Given the description of an element on the screen output the (x, y) to click on. 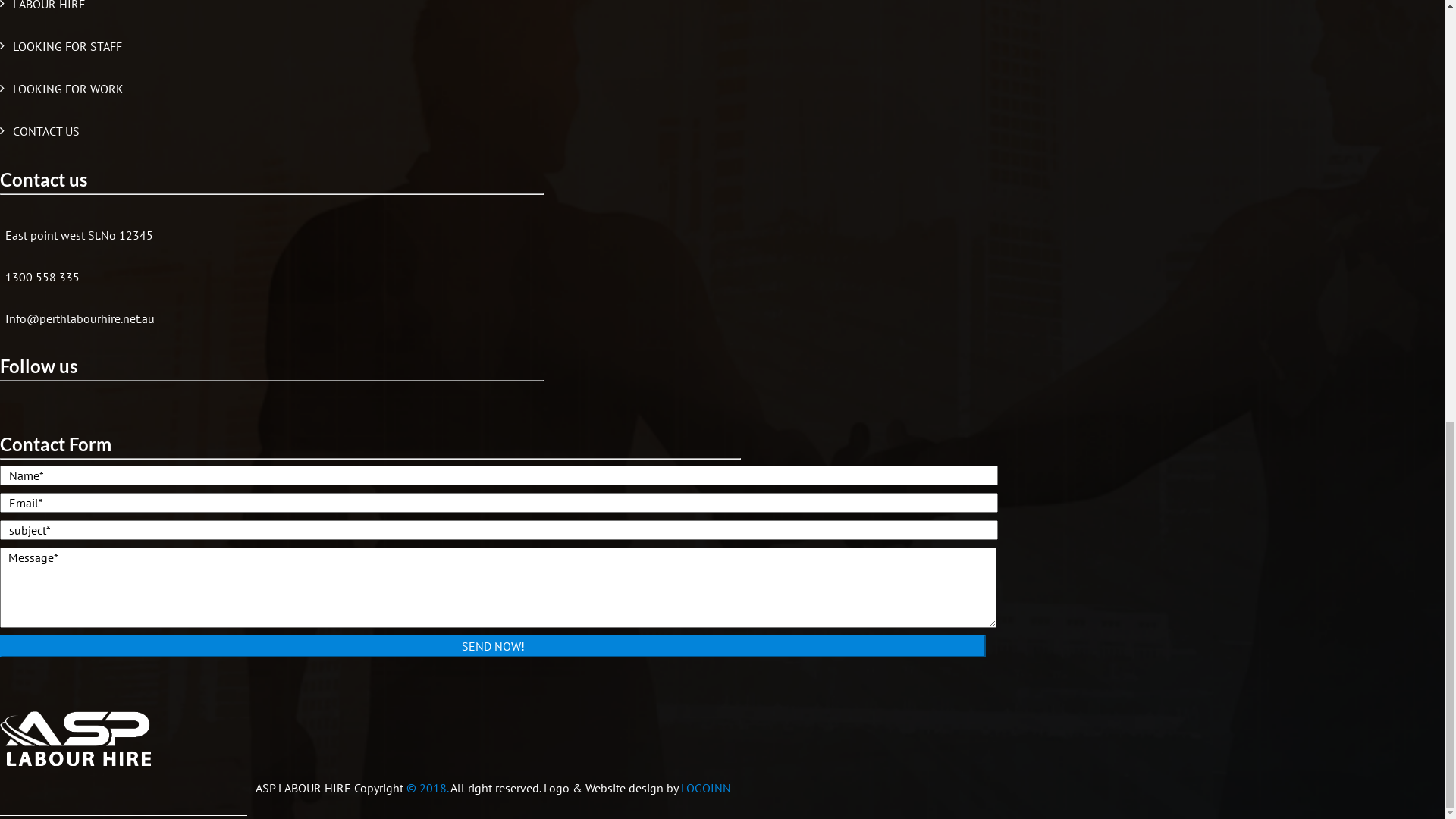
HOME Element type: text (29, 793)
HOME Element type: text (348, 95)
LOOKING FOR STAFF Element type: text (663, 95)
LOOKING FOR WORK Element type: text (813, 95)
ABOUT US Element type: text (430, 95)
SEE NEW PROJECTS Element type: text (903, 584)
CONTACT US Element type: text (942, 95)
Search Element type: text (722, 688)
LABOUR HIRE Element type: text (533, 95)
